Given the description of an element on the screen output the (x, y) to click on. 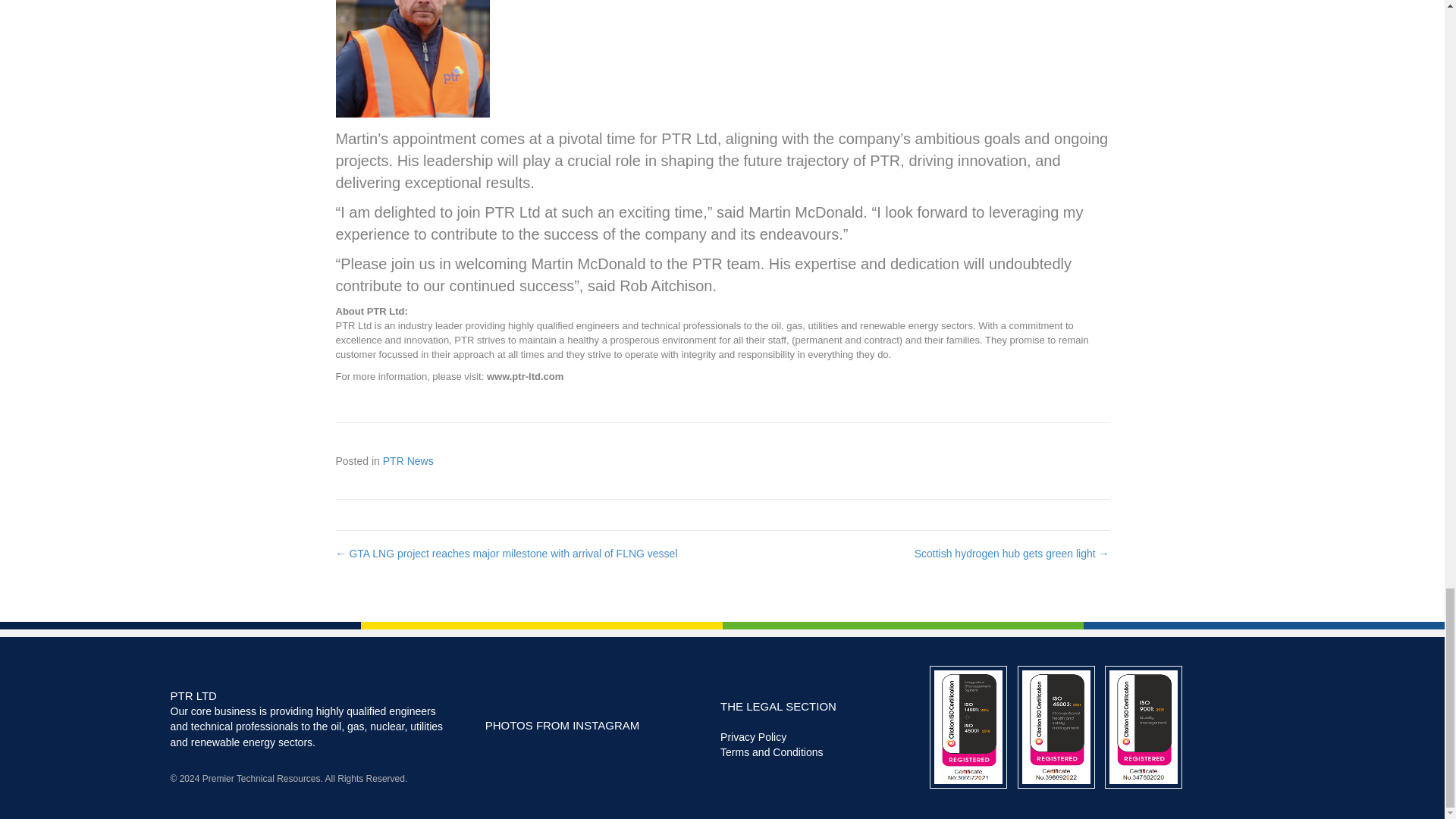
Terms and Conditions (771, 752)
Privacy Policy (753, 736)
PTR News (407, 460)
